Given the description of an element on the screen output the (x, y) to click on. 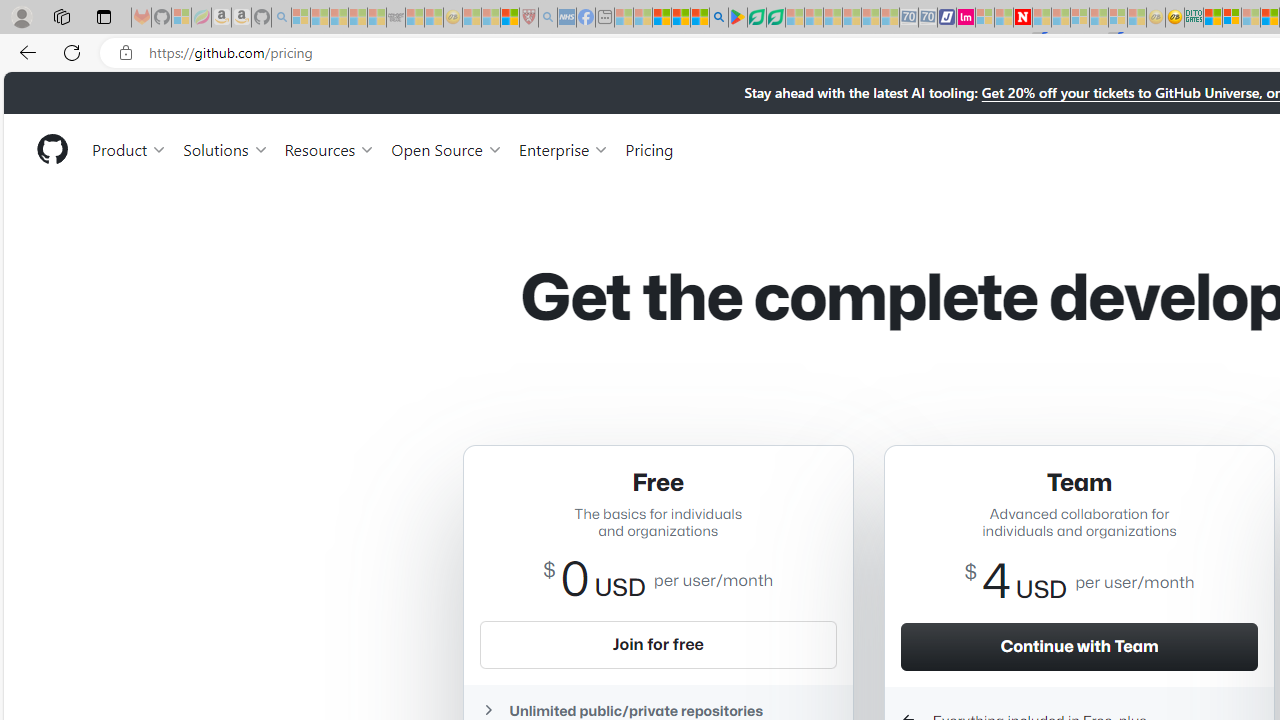
Local - MSN (509, 17)
Pricing (649, 148)
